Given the description of an element on the screen output the (x, y) to click on. 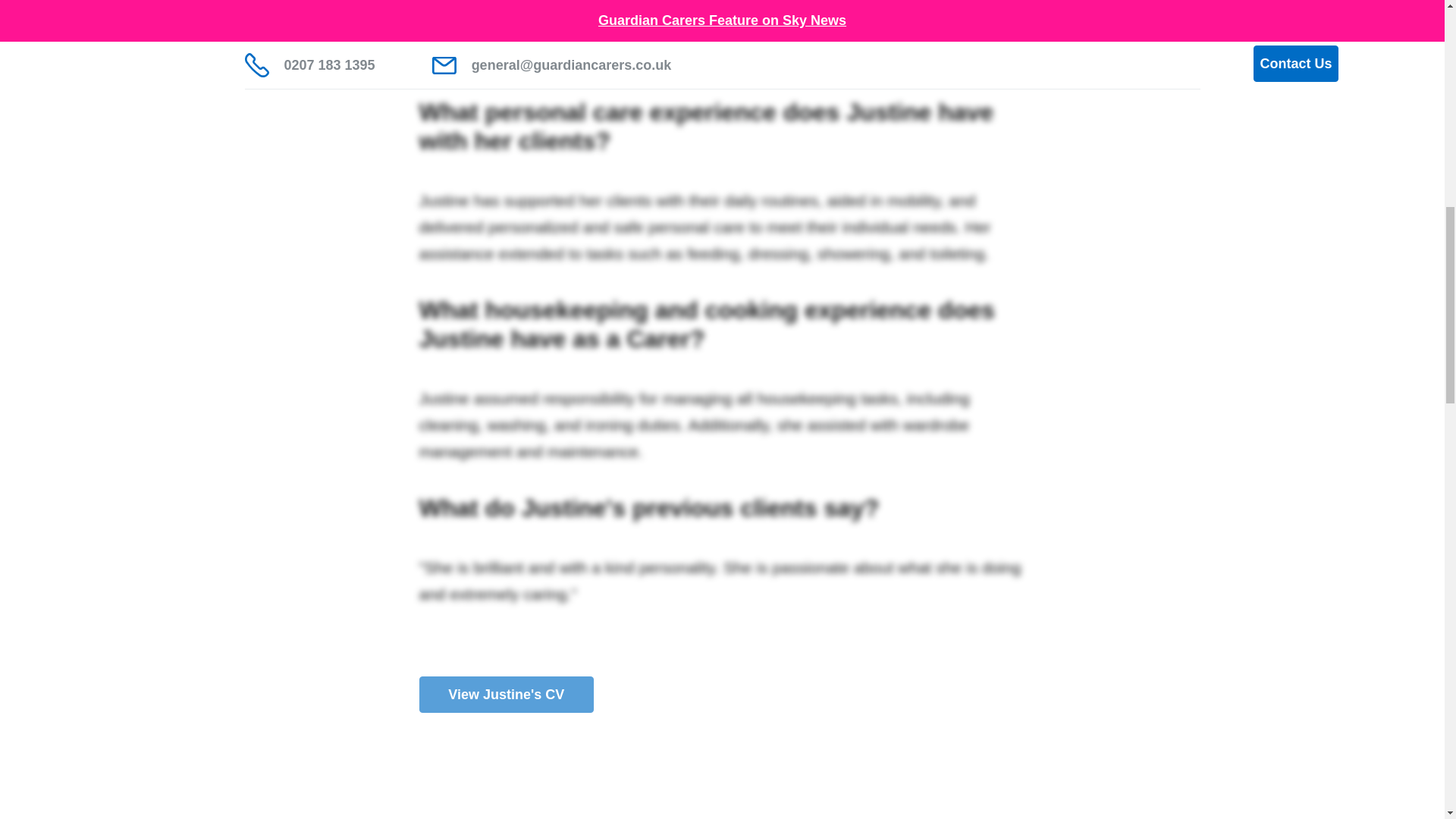
View Justine's CV (506, 694)
